Given the description of an element on the screen output the (x, y) to click on. 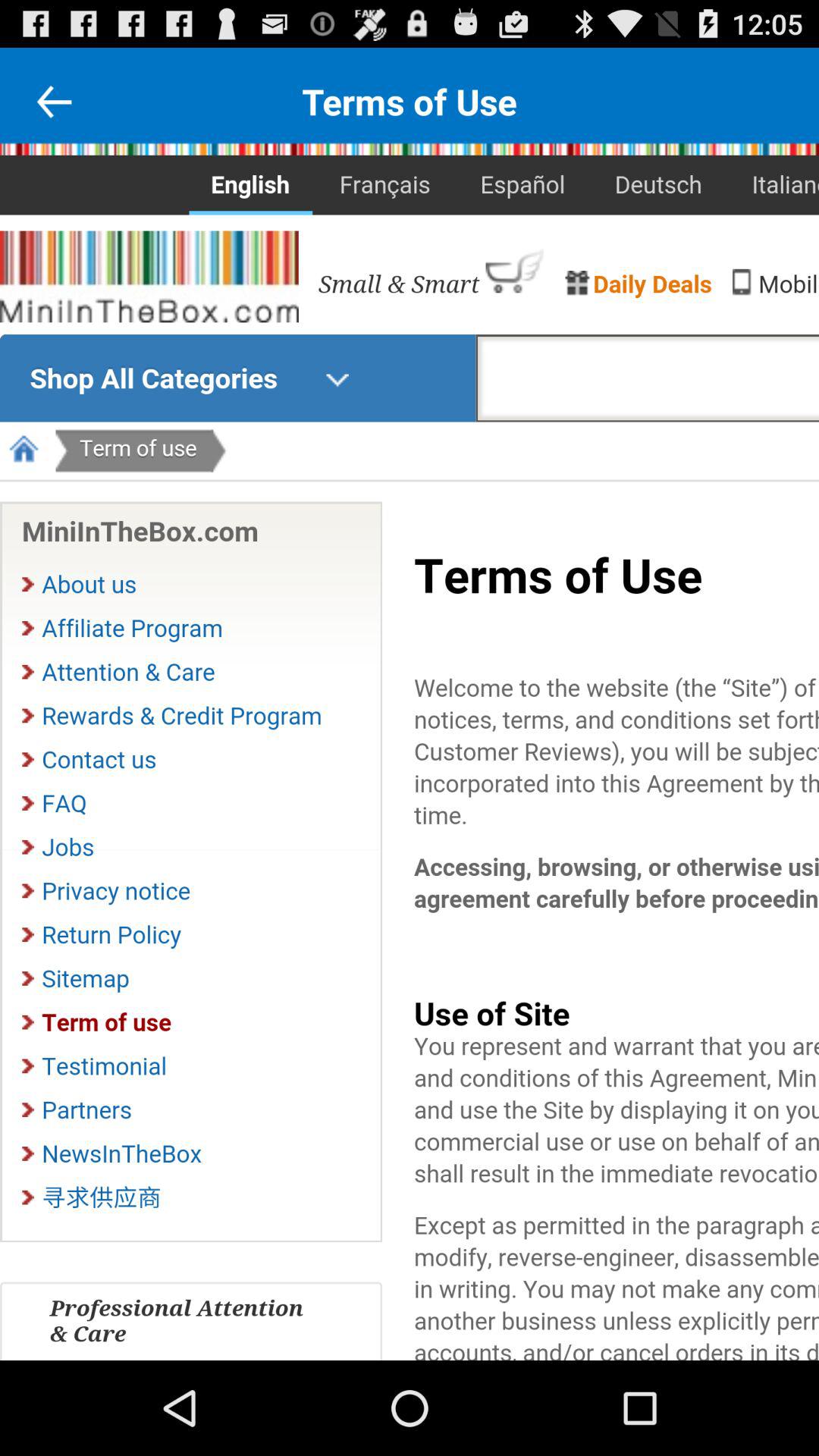
go to advertisement (53, 101)
